Given the description of an element on the screen output the (x, y) to click on. 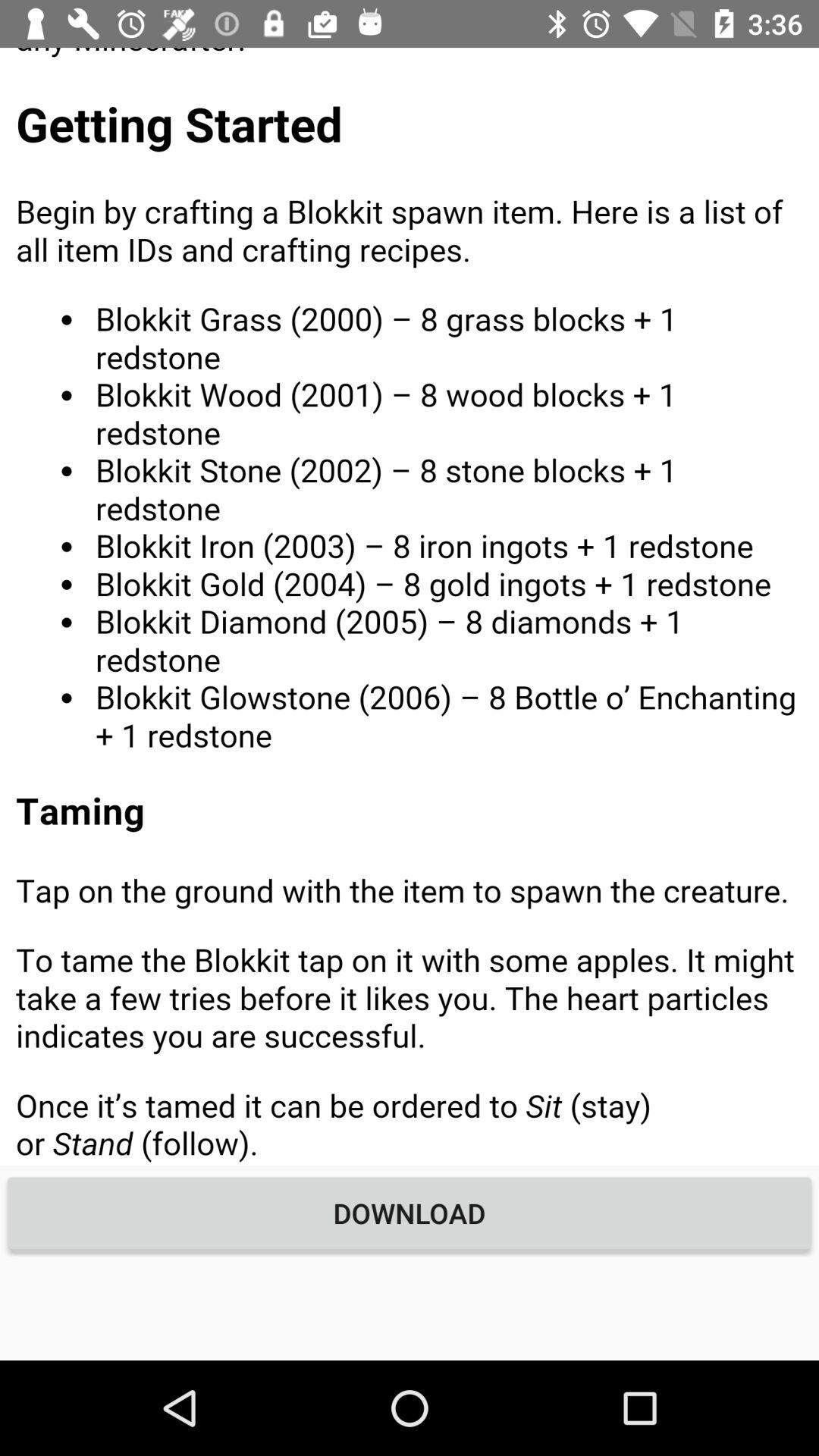
instruction (409, 606)
